Given the description of an element on the screen output the (x, y) to click on. 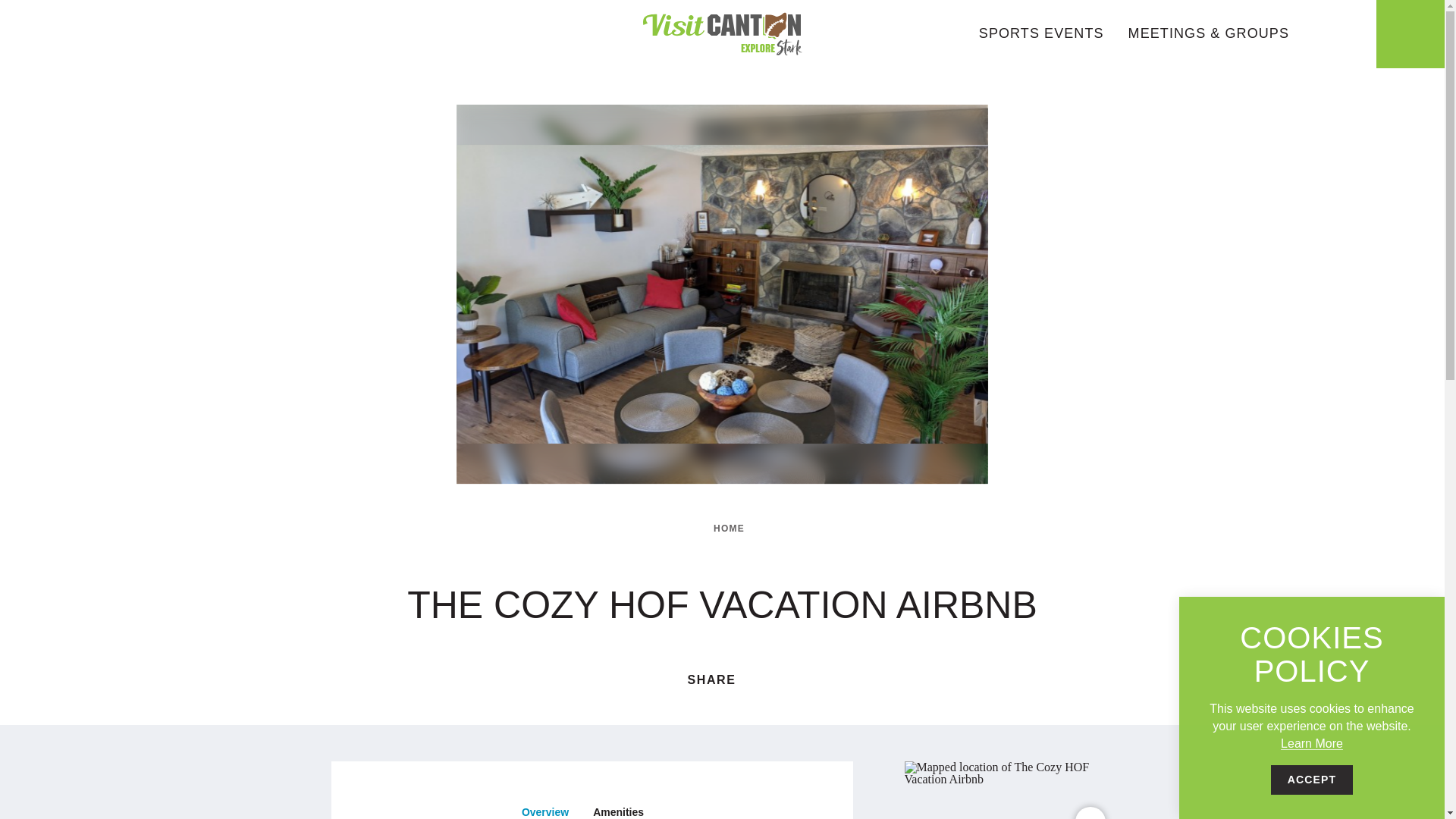
HOME (725, 528)
SPORTS EVENTS (1040, 32)
Amenities (618, 808)
SHARE (722, 679)
Skip to content (17, 15)
Overview (544, 808)
